Given the description of an element on the screen output the (x, y) to click on. 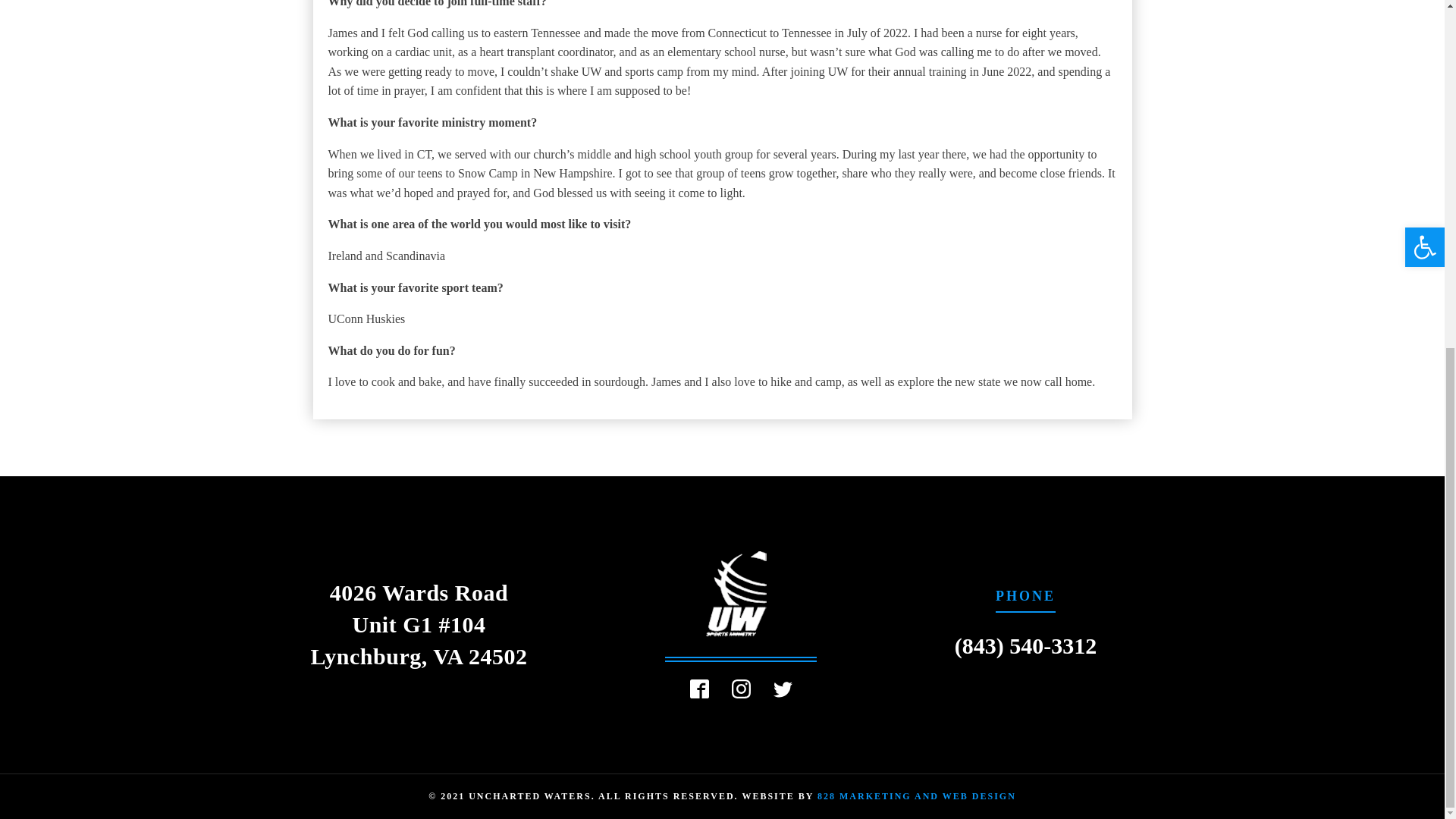
828 MARKETING AND WEB DESIGN (916, 796)
